Given the description of an element on the screen output the (x, y) to click on. 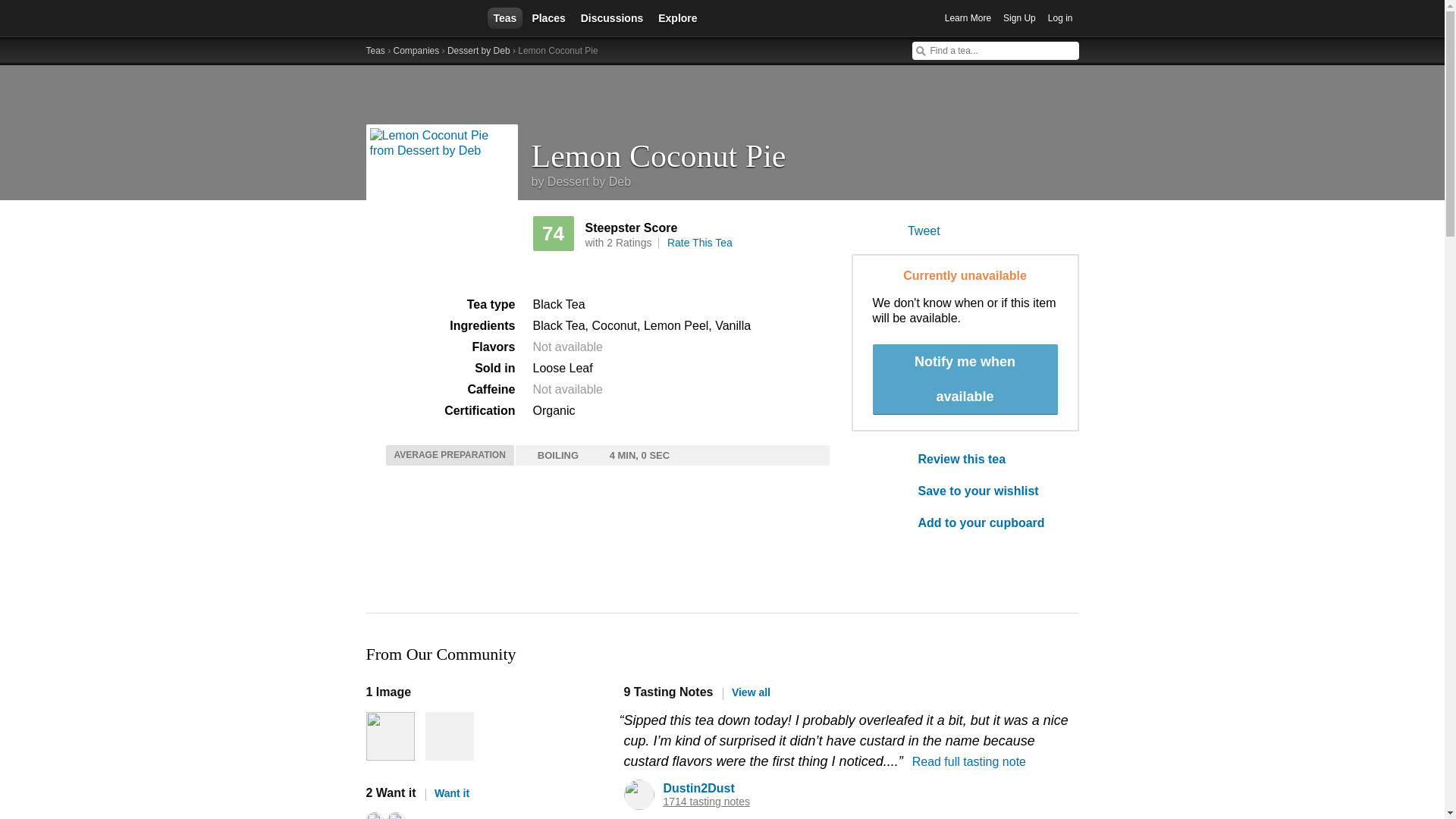
Rate This Tea (699, 242)
Places (547, 17)
Discussions (612, 17)
Read full tasting note (969, 761)
Review this tea (986, 458)
View all (746, 692)
Dustin2Dust (697, 787)
Lemon Coconut Pie (804, 150)
Log in (1060, 18)
Want it (446, 793)
Explore (677, 17)
Sign Up (1019, 18)
Notify me when available (964, 378)
Steepster (418, 18)
Teas (504, 17)
